Given the description of an element on the screen output the (x, y) to click on. 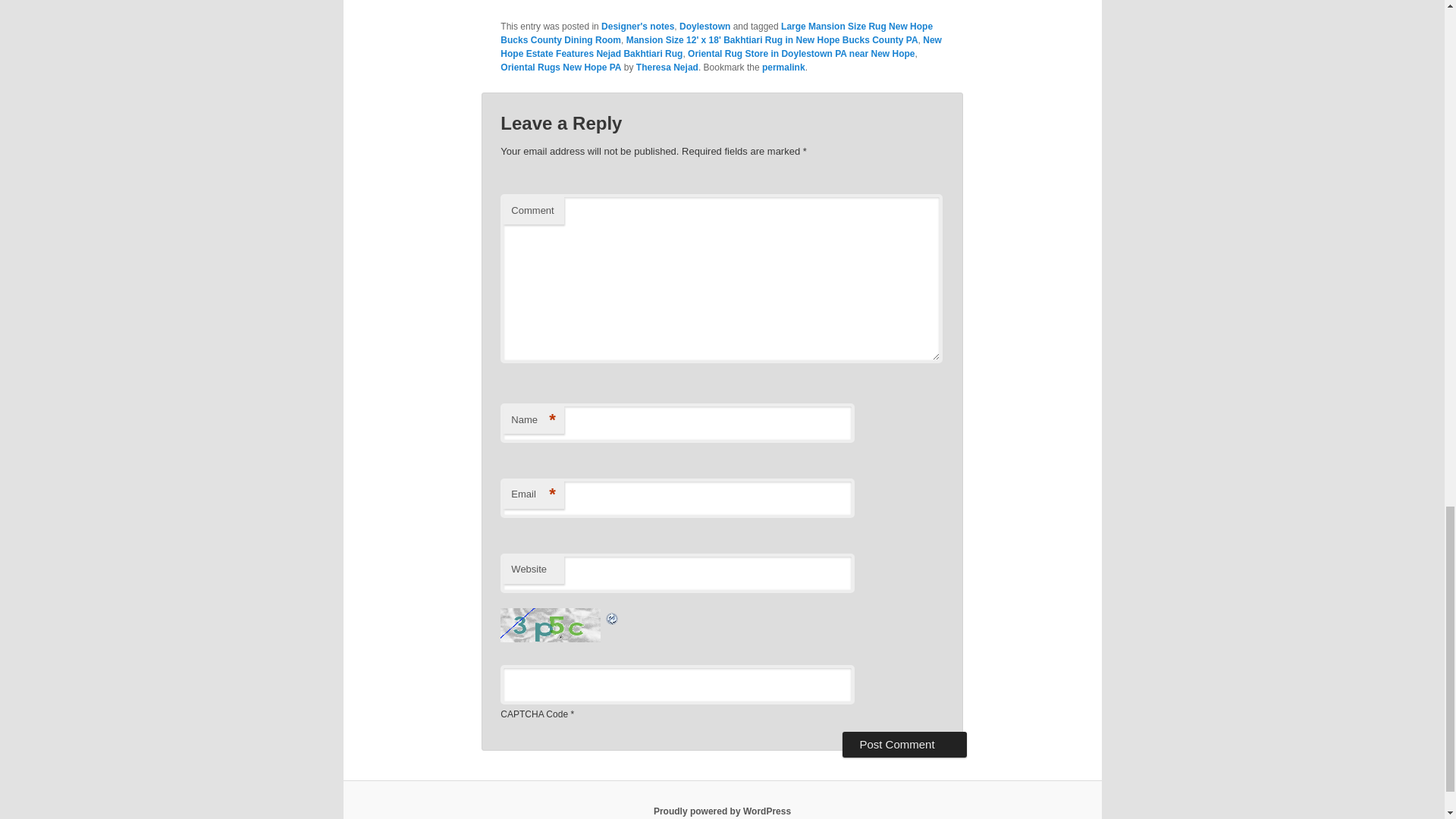
Large Mansion Size Rug New Hope Bucks County Dining Room (716, 33)
Doylestown (704, 26)
Post Comment (904, 744)
Oriental Rug Store in Doylestown PA near New Hope (800, 53)
Designer's notes (637, 26)
CAPTCHA (552, 625)
Theresa Nejad (667, 67)
permalink (783, 67)
Post Comment (904, 744)
Proudly powered by WordPress (721, 810)
Refresh (612, 616)
Oriental Rugs New Hope PA (560, 67)
Semantic Personal Publishing Platform (721, 810)
New Hope Estate Features Nejad Bakhtiari Rug (721, 46)
